Given the description of an element on the screen output the (x, y) to click on. 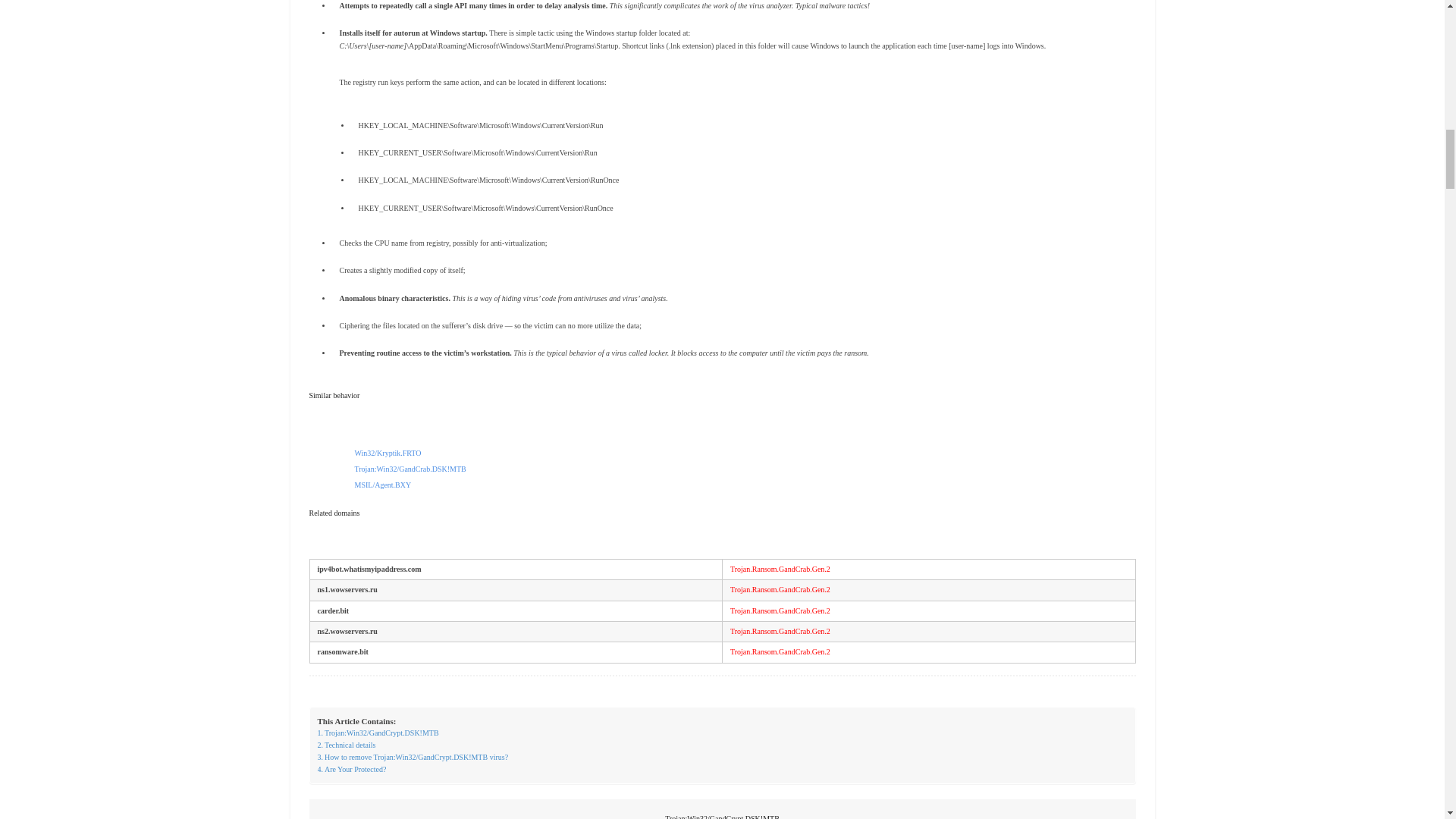
Technical details (346, 745)
Technical details (346, 745)
Are Your Protected? (351, 769)
Are Your Protected? (351, 769)
